Given the description of an element on the screen output the (x, y) to click on. 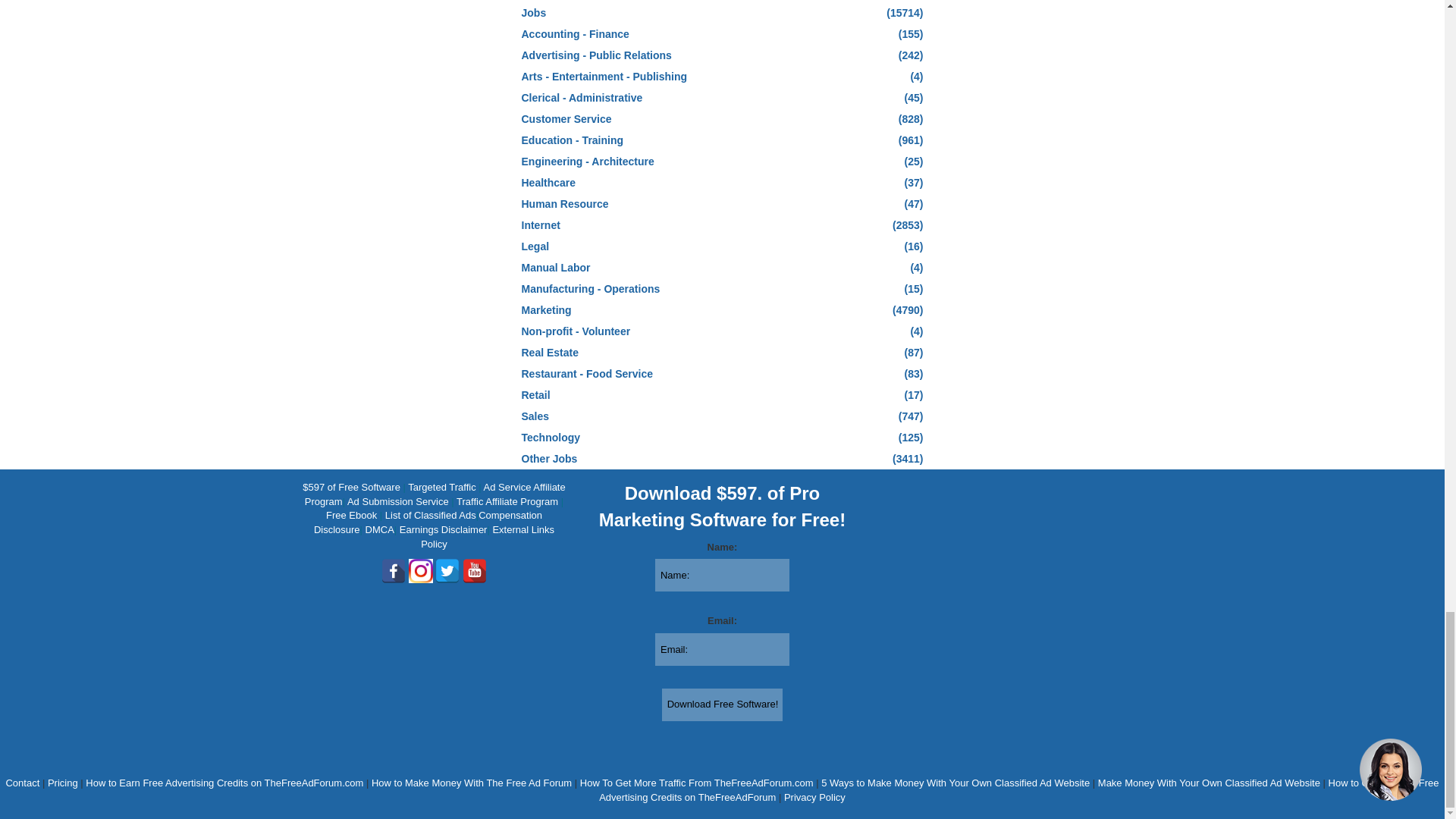
Name: (721, 574)
Email: (721, 649)
Download Free Software! (722, 704)
